Given the description of an element on the screen output the (x, y) to click on. 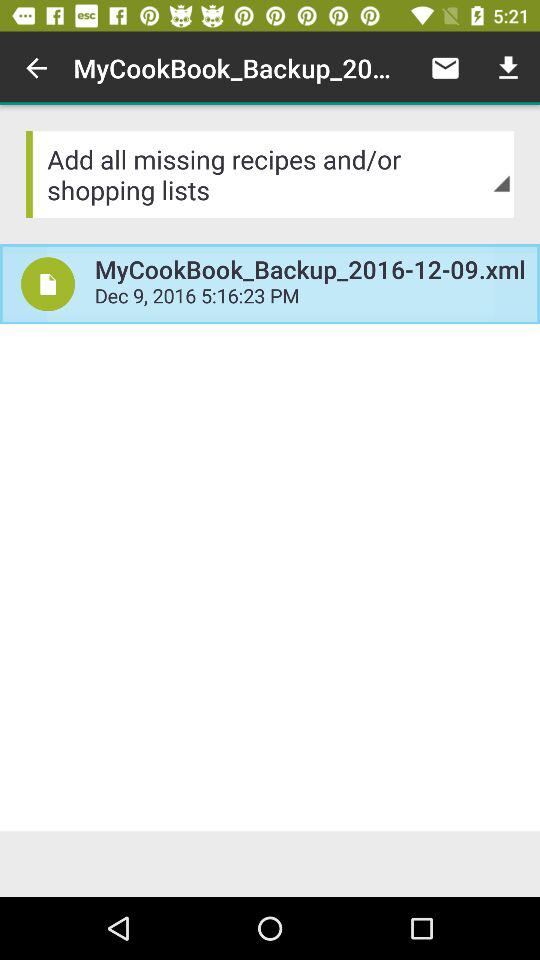
press the item to the right of the mycookbook_backup_2016 12 09 item (444, 67)
